Given the description of an element on the screen output the (x, y) to click on. 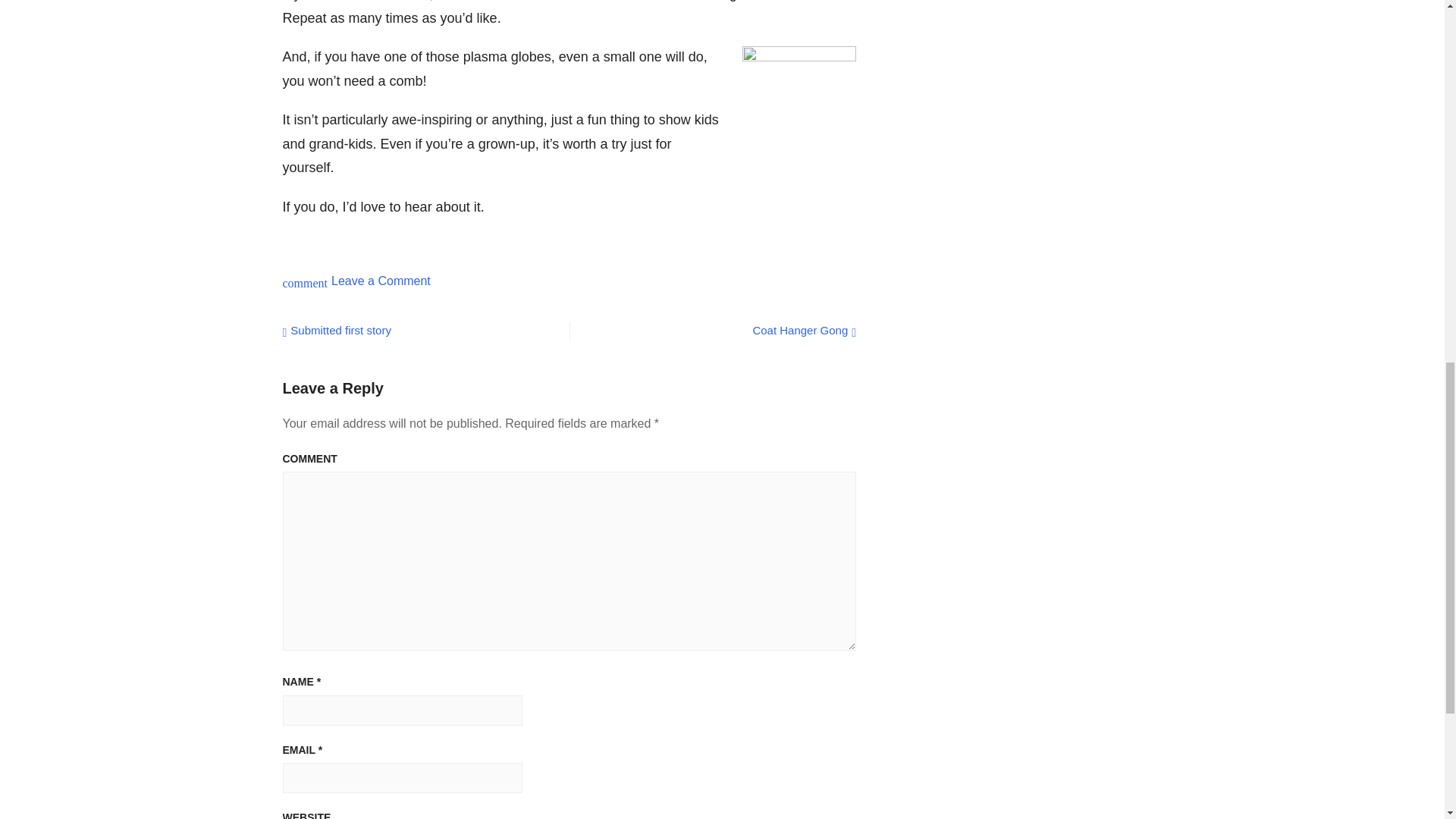
Submitted first story (380, 280)
Coat Hanger Gong (336, 329)
